Given the description of an element on the screen output the (x, y) to click on. 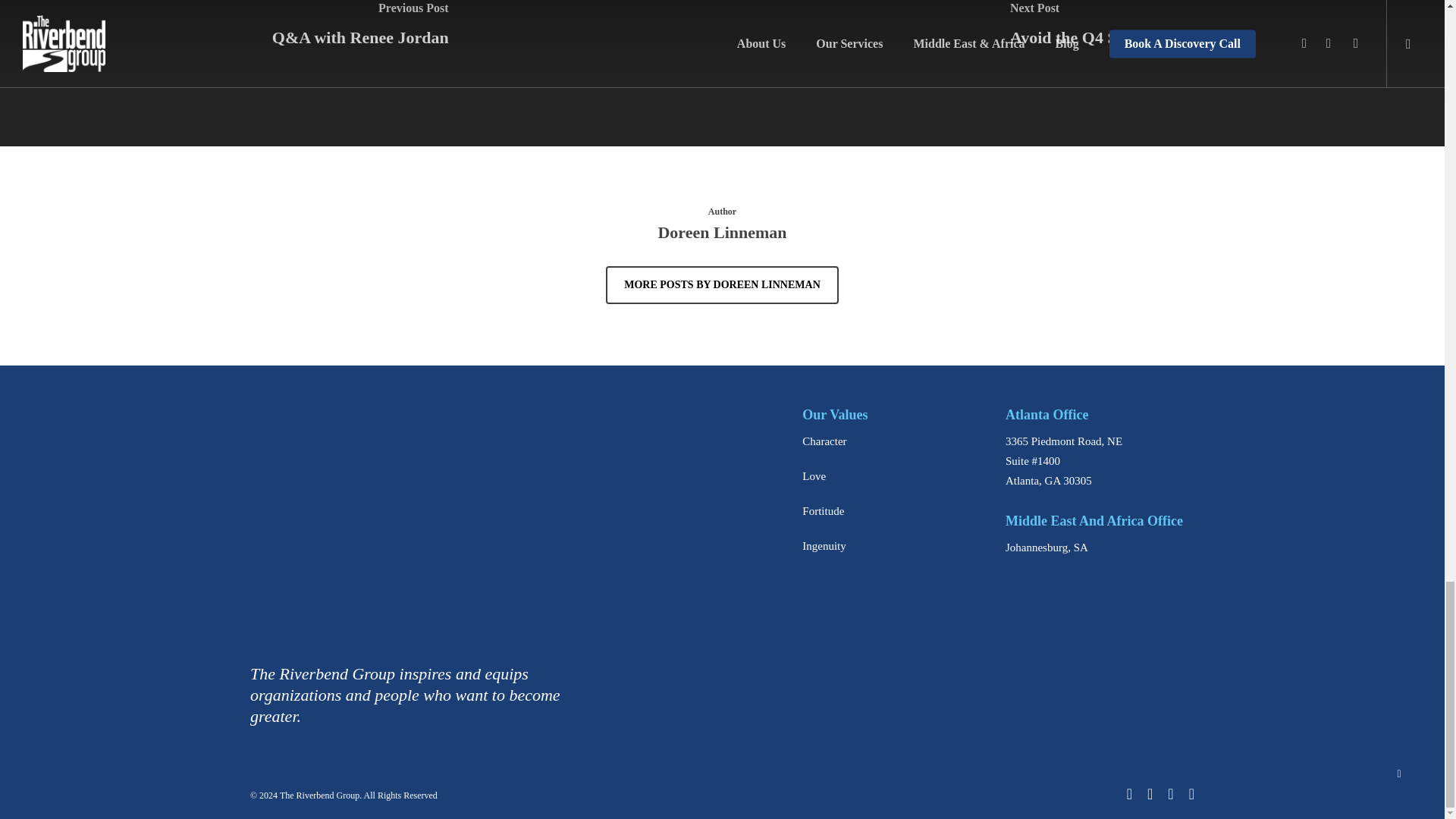
twitter (1129, 793)
facebook (1150, 793)
MORE POSTS BY DOREEN LINNEMAN (721, 284)
linkedin (1170, 793)
instagram (1191, 793)
